Given the description of an element on the screen output the (x, y) to click on. 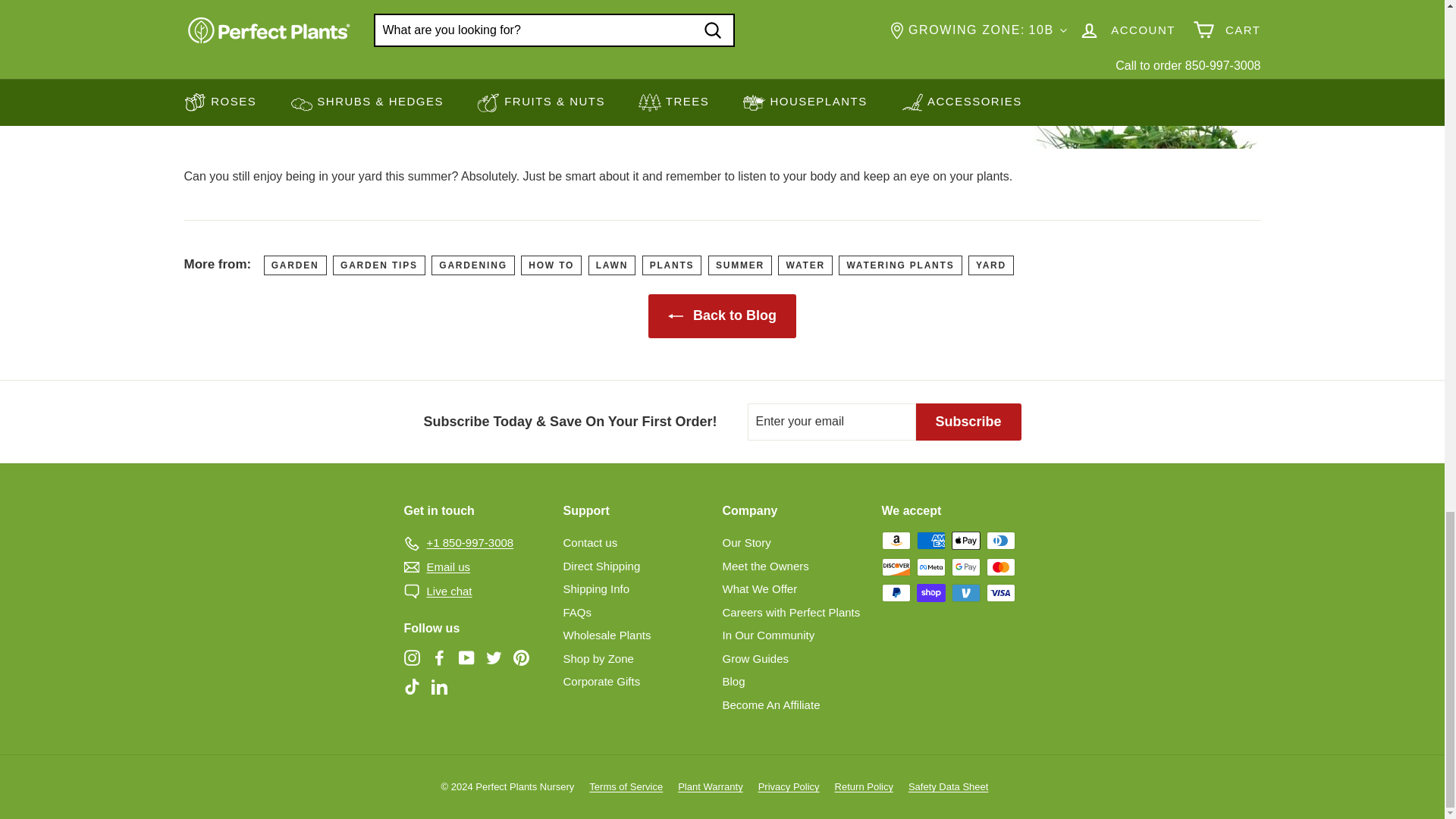
Perfect Plants Nursery on Twitter (492, 657)
Perfect Plants Nursery on LinkedIn (438, 685)
Perfect Plants Nursery on Instagram (411, 657)
Perfect Plants Nursery on YouTube (466, 657)
Perfect Plants Nursery on TikTok (411, 685)
Perfect Plants Nursery on Facebook (438, 657)
Perfect Plants Nursery on Pinterest (520, 657)
